Given the description of an element on the screen output the (x, y) to click on. 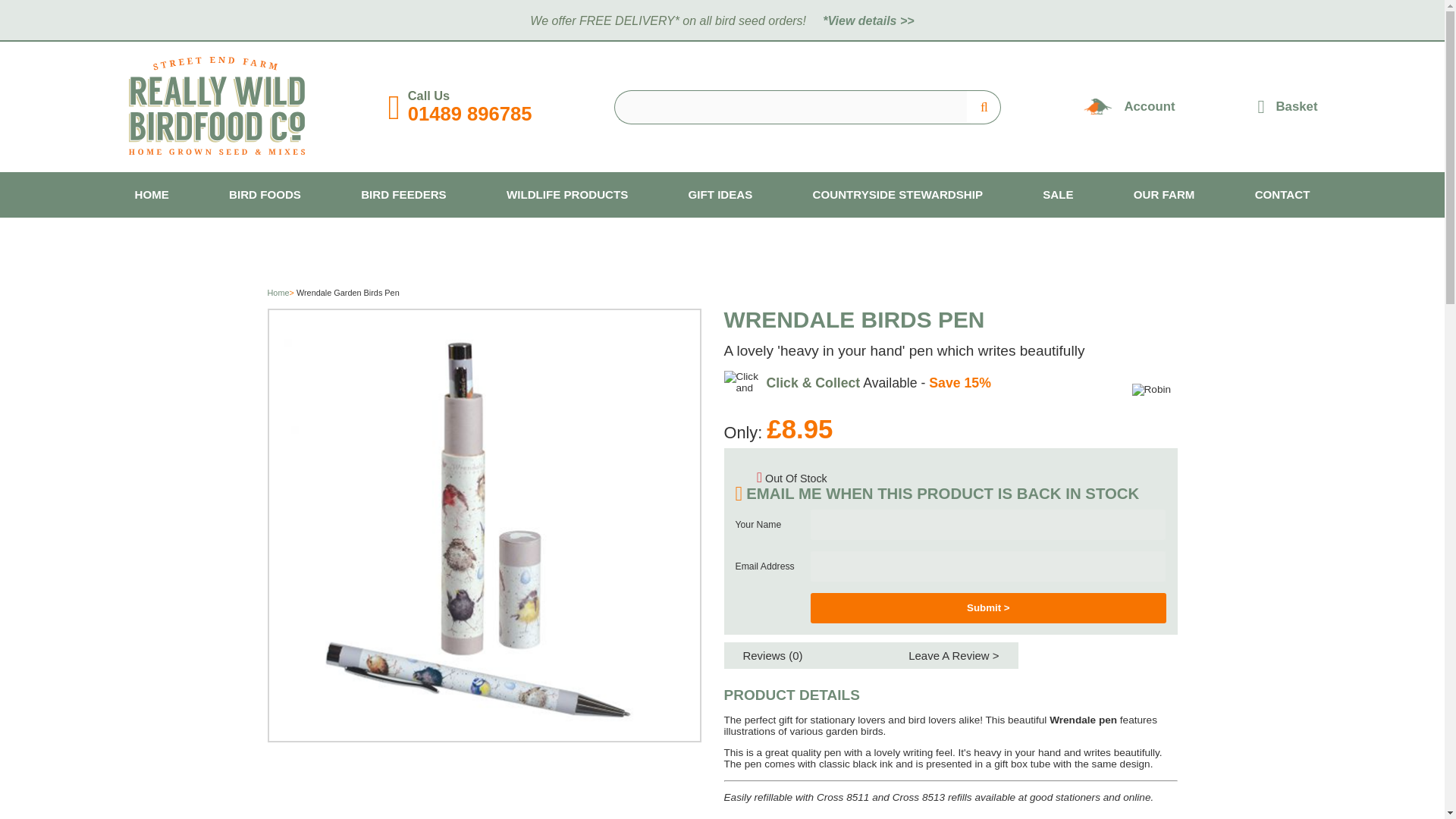
Account (1149, 107)
Bird Foods (264, 194)
call us today on 01489 896785 (469, 113)
BIRD FEEDERS (403, 194)
Basket (1287, 106)
Bird Feeders (403, 194)
BIRD FOODS (264, 194)
01489 896785 (469, 113)
Home (152, 194)
Basket (1287, 106)
